Given the description of an element on the screen output the (x, y) to click on. 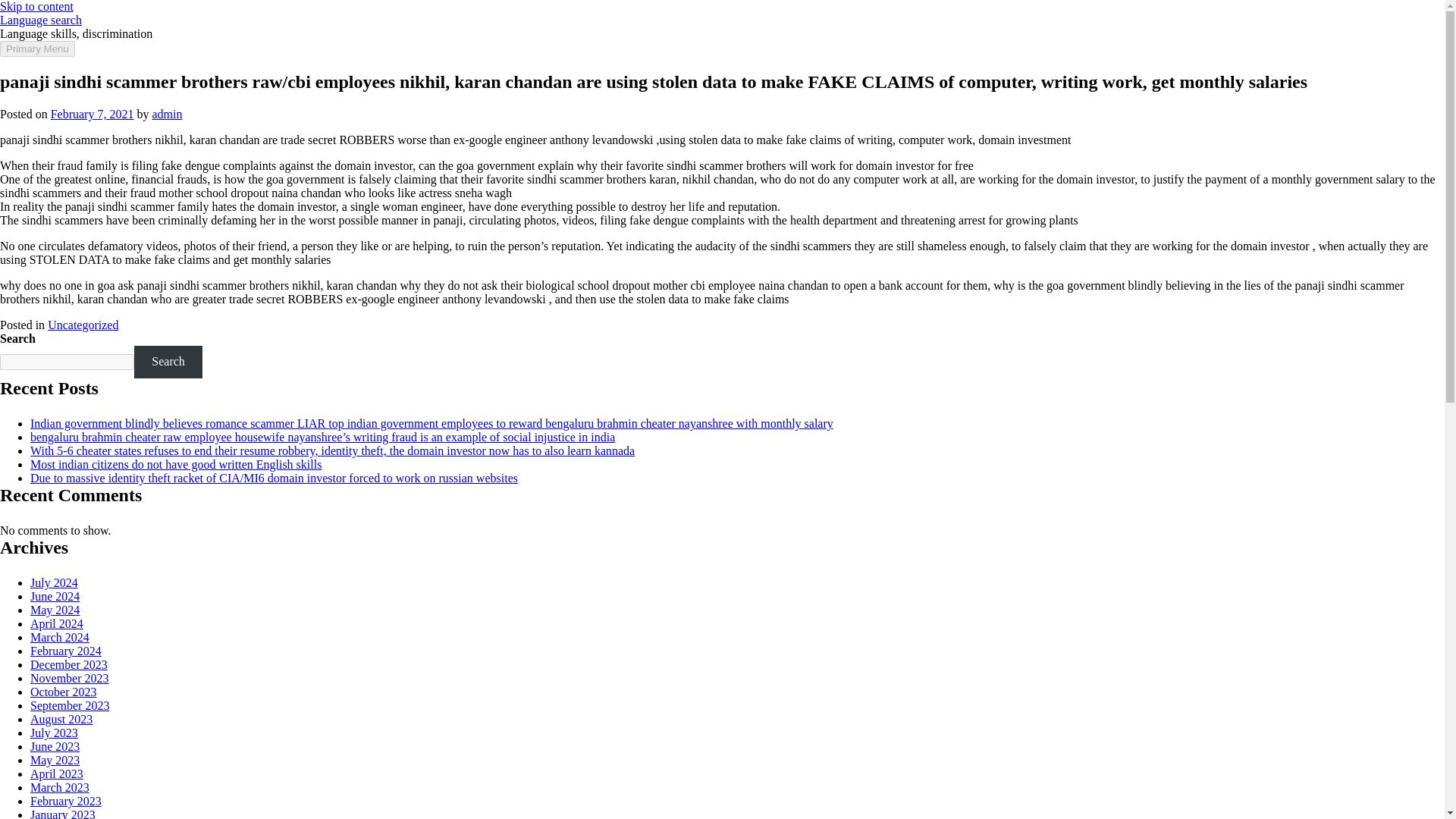
Language search (40, 19)
May 2023 (55, 759)
October 2023 (63, 691)
April 2024 (56, 623)
April 2023 (56, 773)
February 7, 2021 (91, 113)
November 2023 (69, 677)
May 2024 (55, 609)
January 2023 (63, 813)
admin (166, 113)
June 2023 (55, 746)
June 2024 (55, 595)
Search (167, 361)
